Given the description of an element on the screen output the (x, y) to click on. 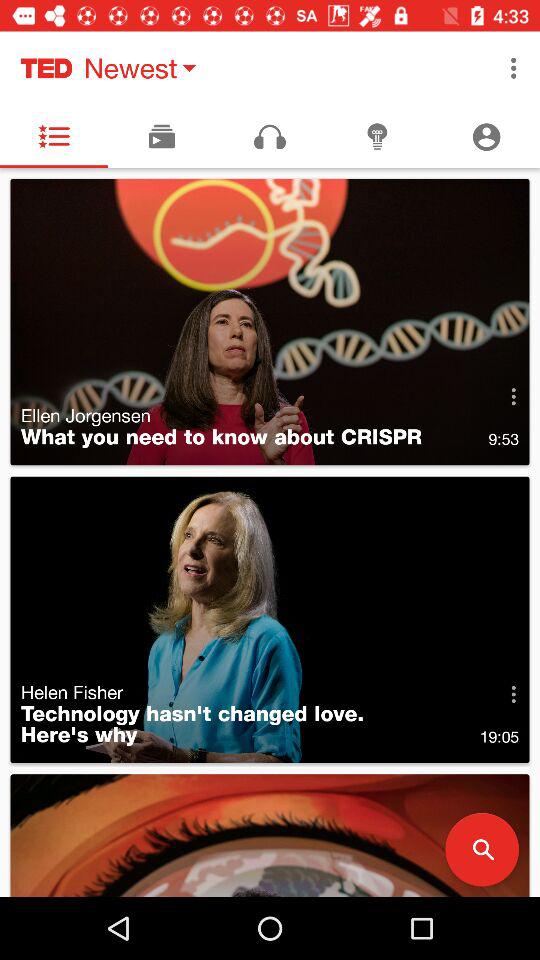
turn on the item to the right of the newest (513, 67)
